Given the description of an element on the screen output the (x, y) to click on. 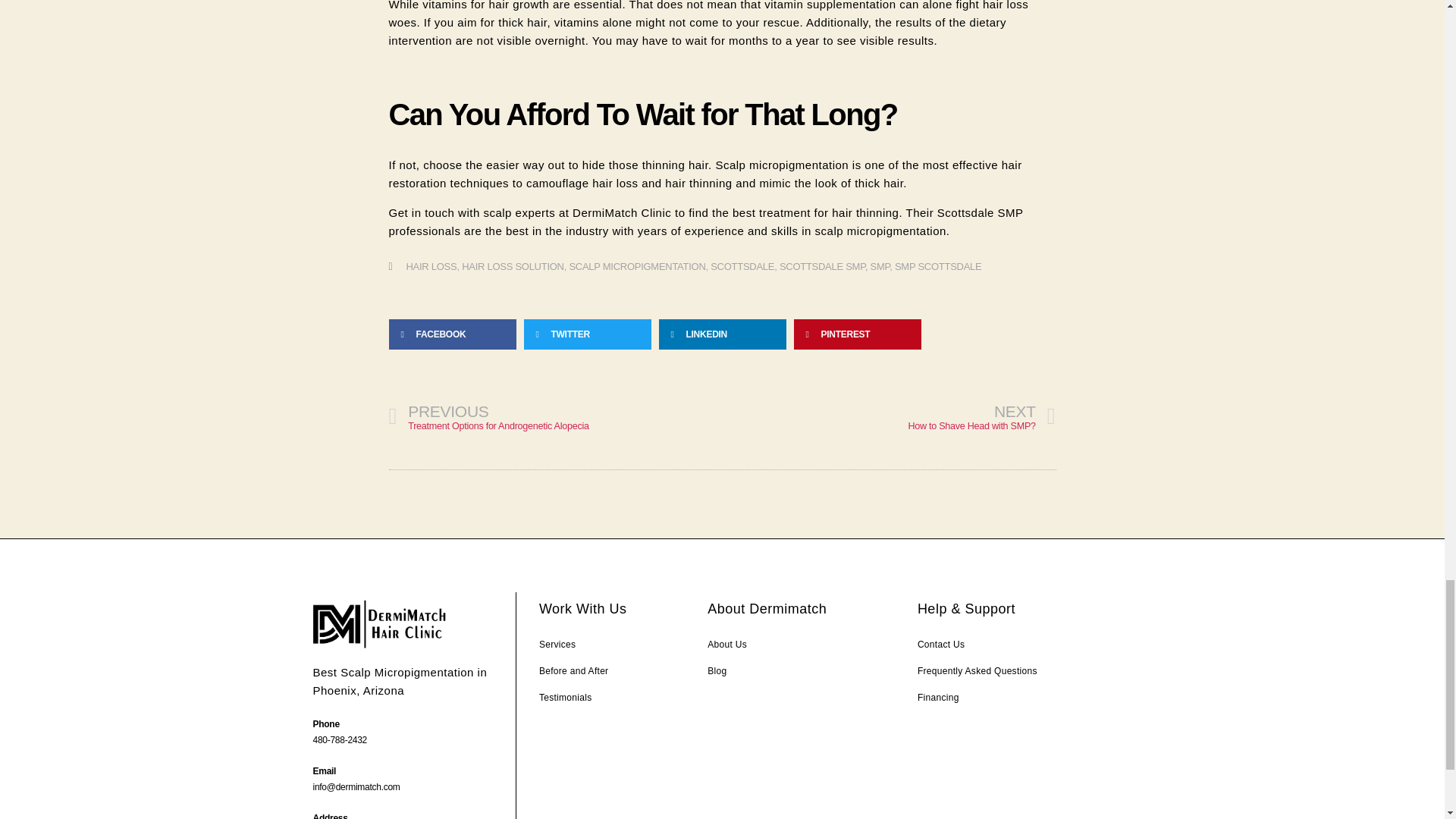
SCALP MICROPIGMENTATION (636, 266)
SCOTTSDALE SMP (821, 266)
HAIR LOSS SOLUTION (512, 266)
HAIR LOSS (555, 416)
SMP SCOTTSDALE (431, 266)
SCOTTSDALE (888, 416)
SMP (938, 266)
